Given the description of an element on the screen output the (x, y) to click on. 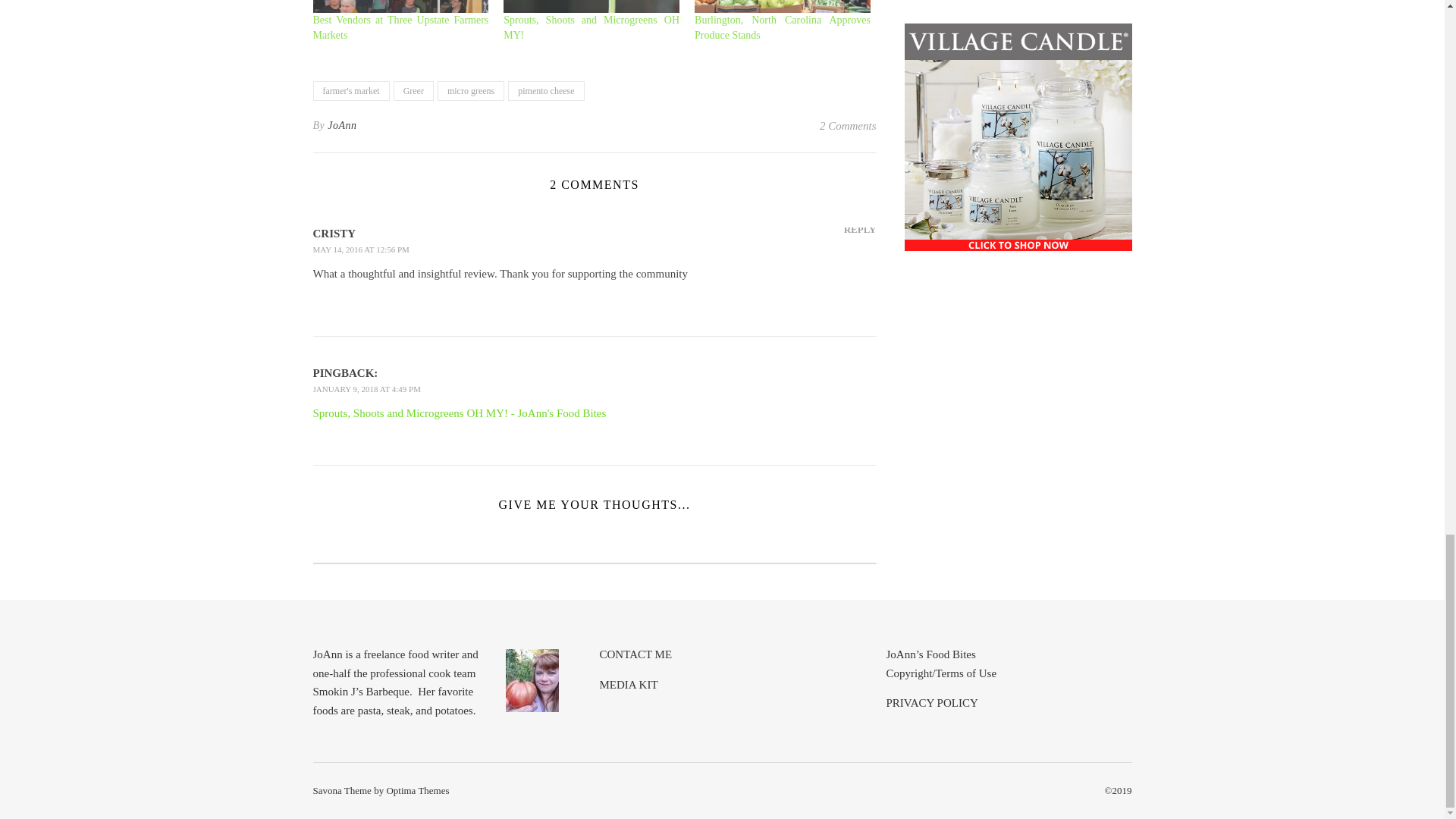
Best Vendors at Three Upstate Farmers Markets (400, 27)
Posts by JoAnn (341, 125)
Best Vendors at Three Upstate Farmers Markets (400, 6)
Burlington, North Carolina Approves Produce Stands (782, 6)
Sprouts, Shoots and Microgreens OH MY! (591, 27)
Sprouts, Shoots and Microgreens OH MY! (591, 6)
Burlington, North Carolina Approves Produce Stands (782, 27)
